Given the description of an element on the screen output the (x, y) to click on. 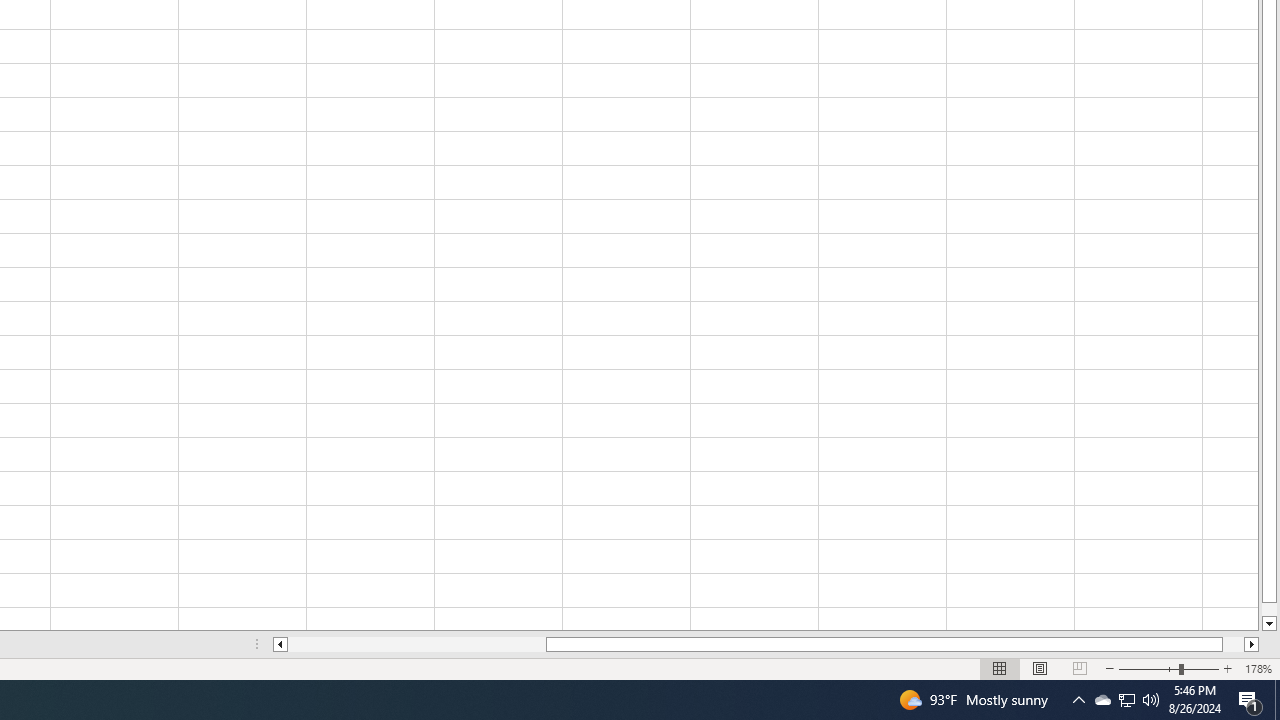
Page left (417, 644)
